Given the description of an element on the screen output the (x, y) to click on. 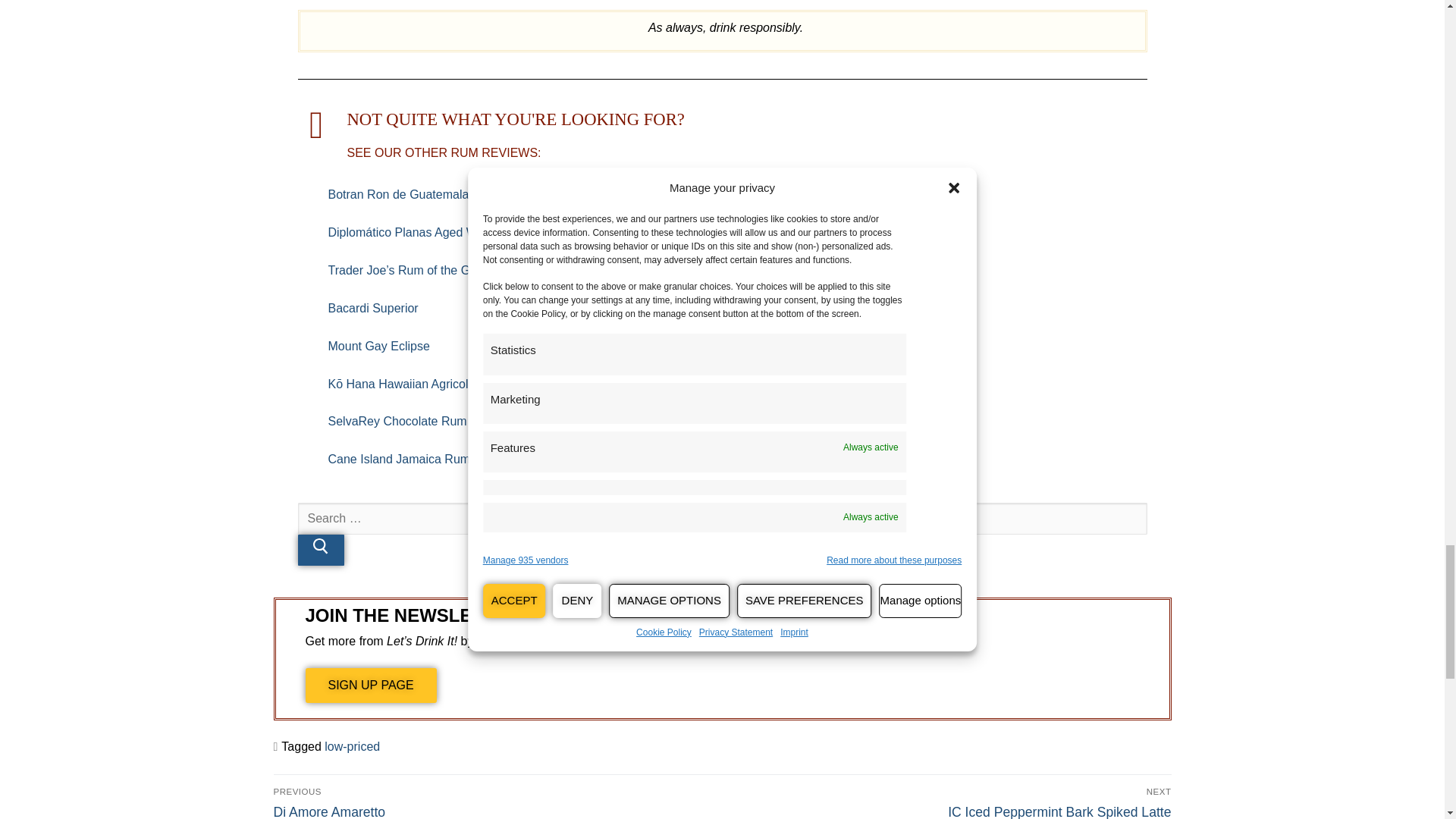
Search for: (722, 518)
